Given the description of an element on the screen output the (x, y) to click on. 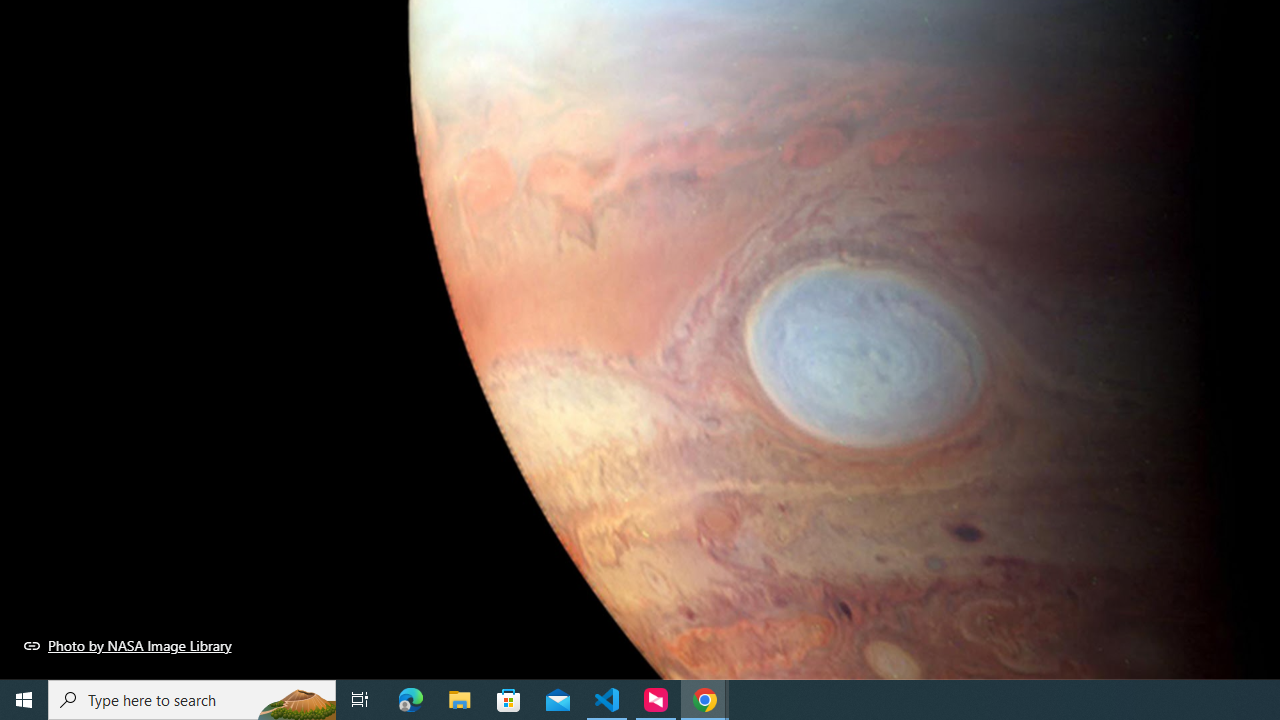
Photo by NASA Image Library (127, 645)
